Given the description of an element on the screen output the (x, y) to click on. 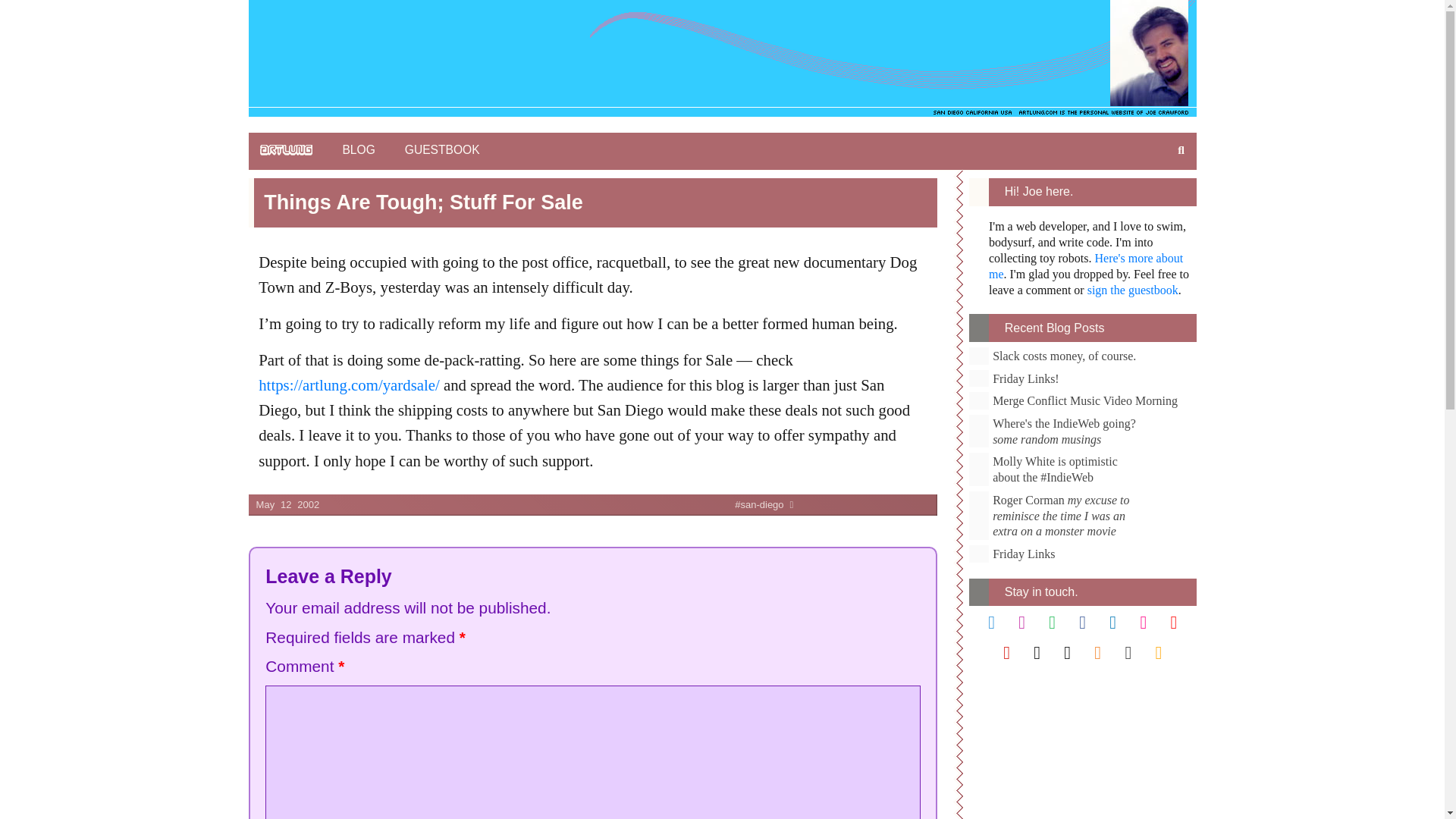
May (264, 504)
Things Are Tough; Stuff For Sale (592, 202)
ARTLUNG (286, 150)
2002 (308, 504)
BLOG (358, 151)
GUESTBOOK (442, 151)
san-diego (554, 504)
san-diego (554, 504)
